Given the description of an element on the screen output the (x, y) to click on. 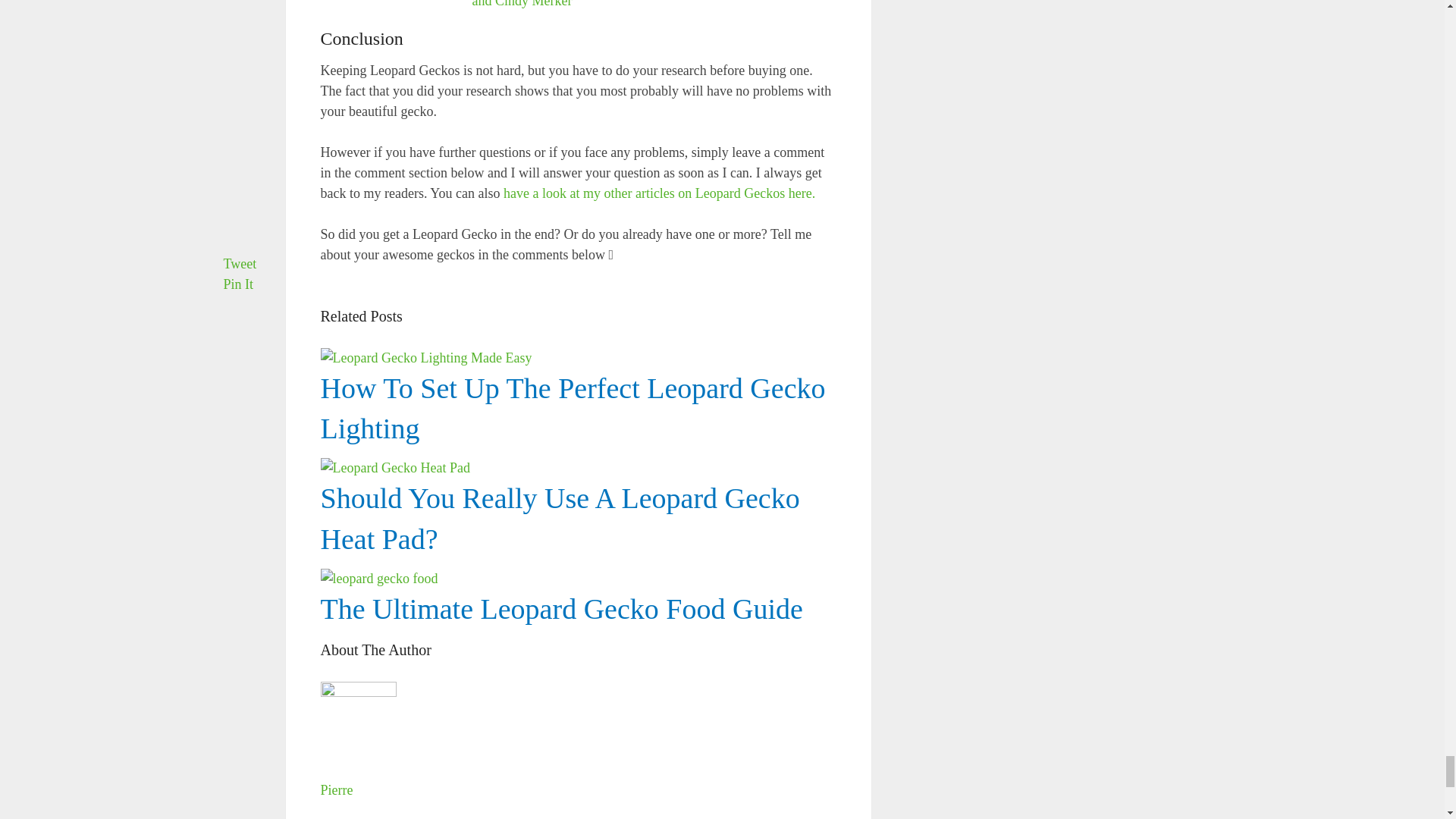
Should You Really Use A Leopard Gecko Heat Pad? (577, 423)
The Ultimate Leopard Gecko Food Guide (577, 533)
Should You Really Use A Leopard Gecko Heat Pad? (559, 518)
How To Set Up The Perfect Leopard Gecko Lighting (577, 358)
The Ultimate Leopard Gecko Food Guide (561, 608)
How To Set Up The Perfect Leopard Gecko Lighting (572, 408)
